Given the description of an element on the screen output the (x, y) to click on. 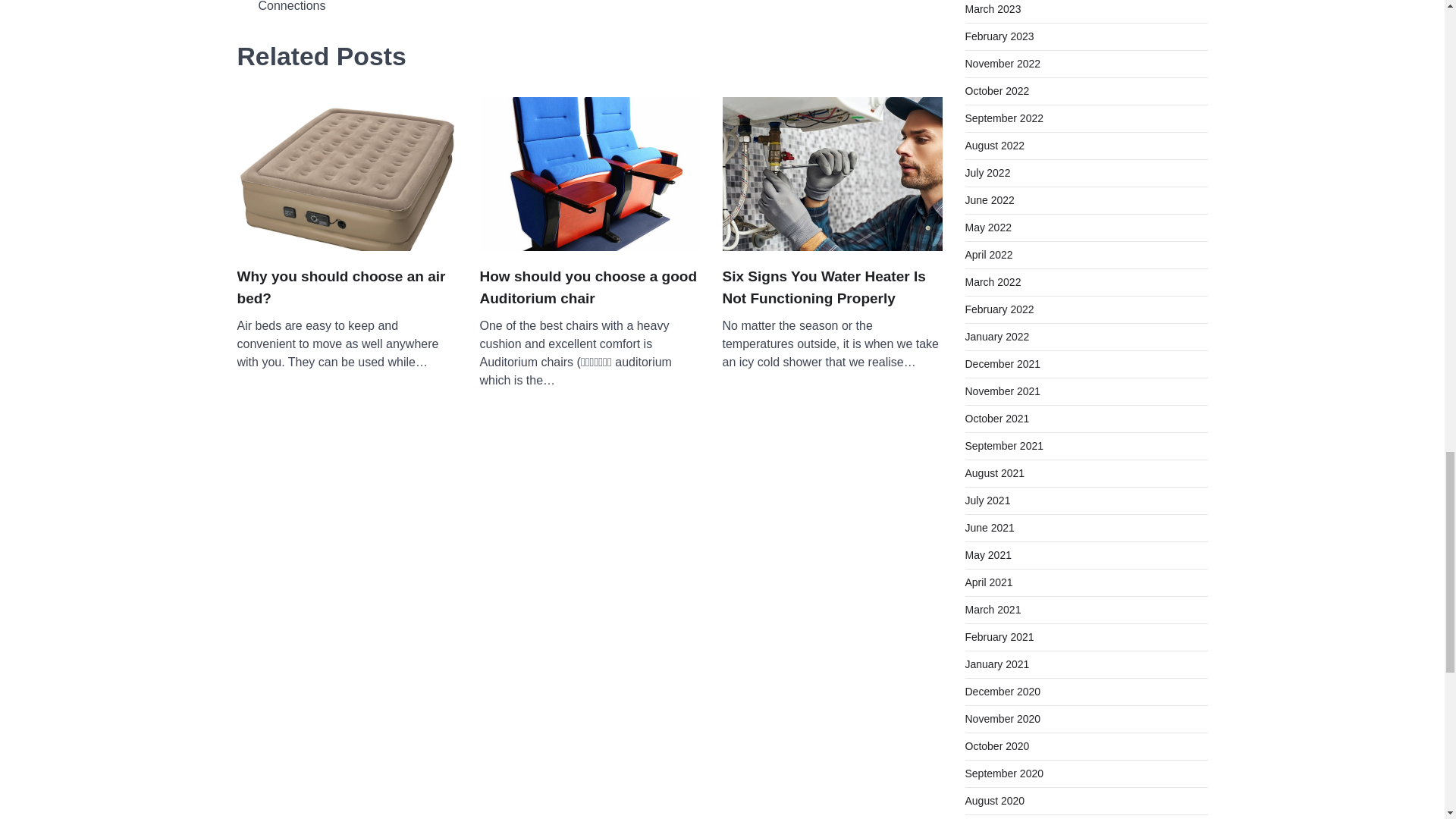
How should you choose a good Auditorium chair (588, 287)
Why you should choose an air bed? (346, 287)
Six Signs You Water Heater Is Not Functioning Properly (832, 287)
